Given the description of an element on the screen output the (x, y) to click on. 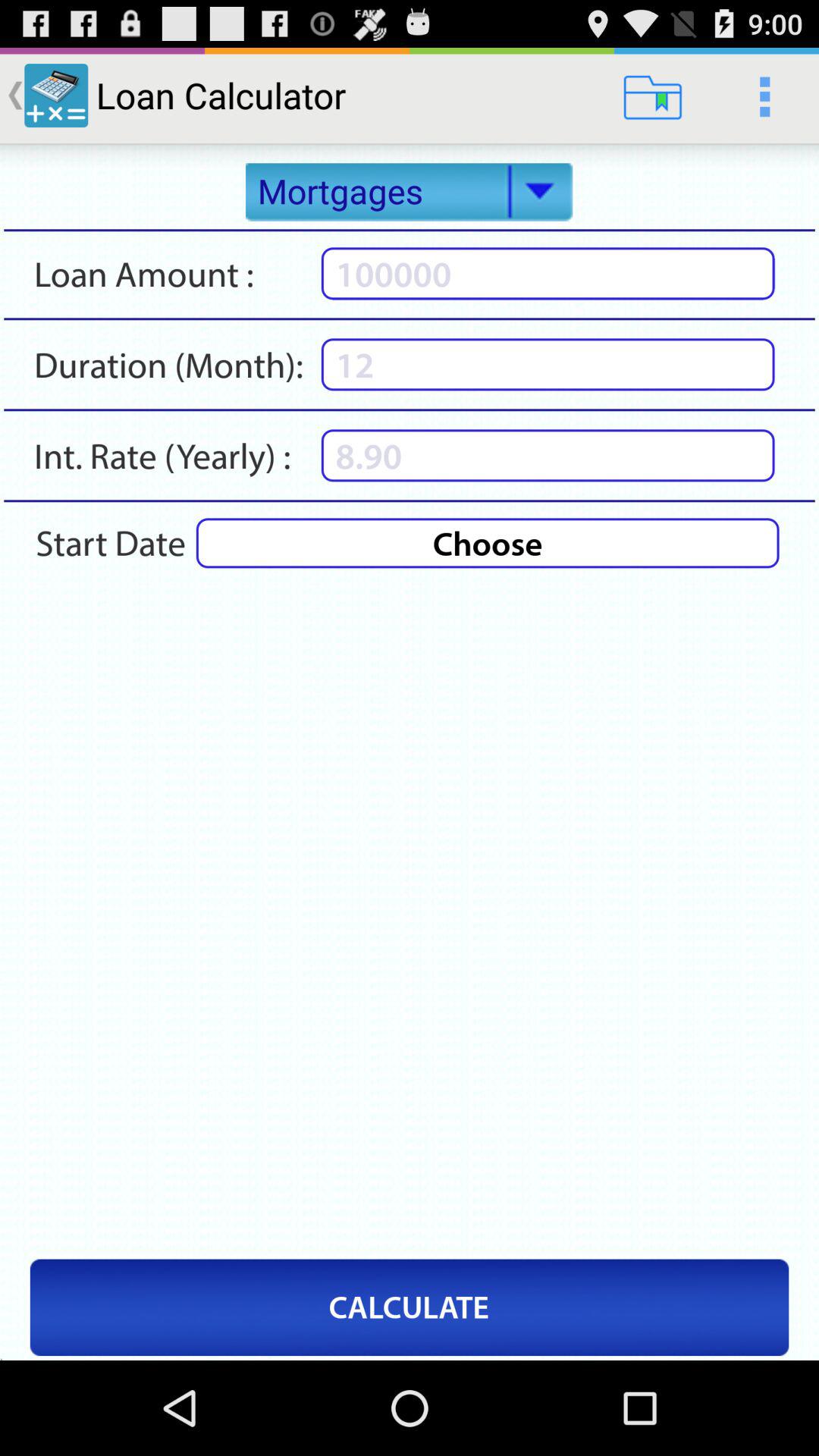
loan amount text box (547, 273)
